Given the description of an element on the screen output the (x, y) to click on. 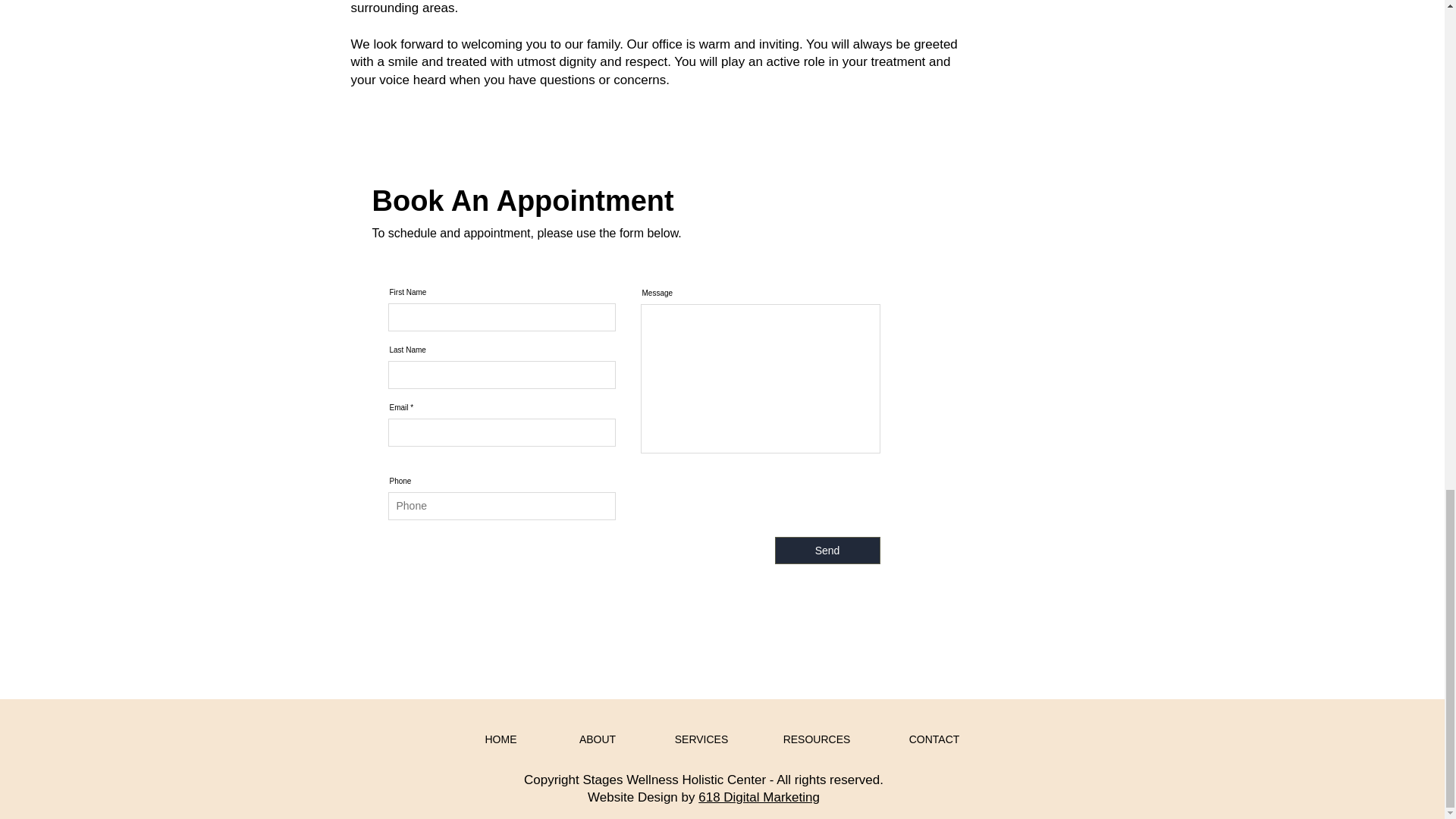
SERVICES (701, 739)
618 Digital Marketing (758, 797)
HOME (499, 739)
Send (827, 550)
CONTACT (934, 739)
